Given the description of an element on the screen output the (x, y) to click on. 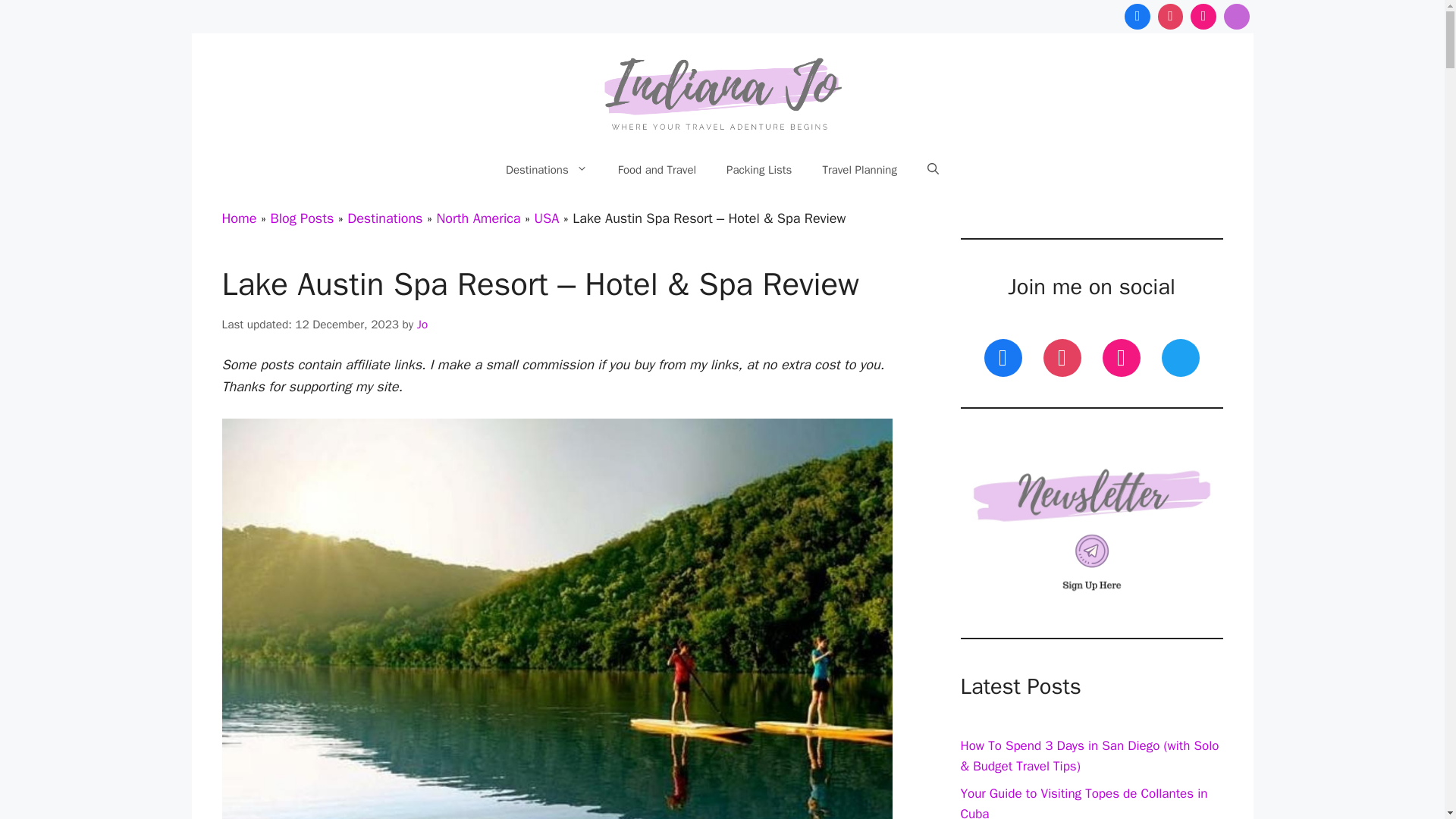
Destinations (546, 169)
Pinterest (1171, 16)
Telegram (1236, 16)
Facebook (1137, 16)
Instagram (1203, 16)
